Given the description of an element on the screen output the (x, y) to click on. 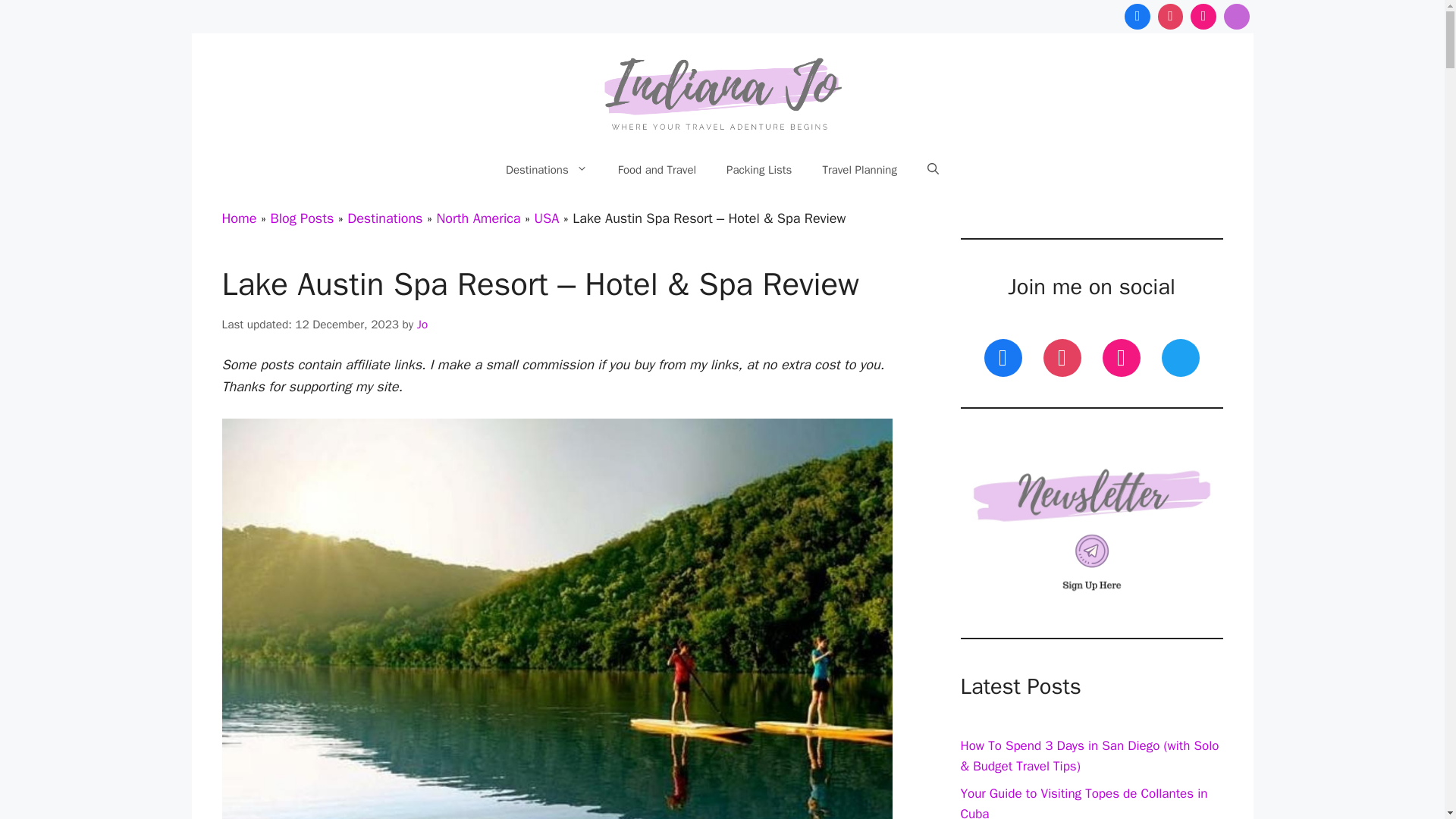
Destinations (546, 169)
Pinterest (1171, 16)
Telegram (1236, 16)
Facebook (1137, 16)
Instagram (1203, 16)
